Given the description of an element on the screen output the (x, y) to click on. 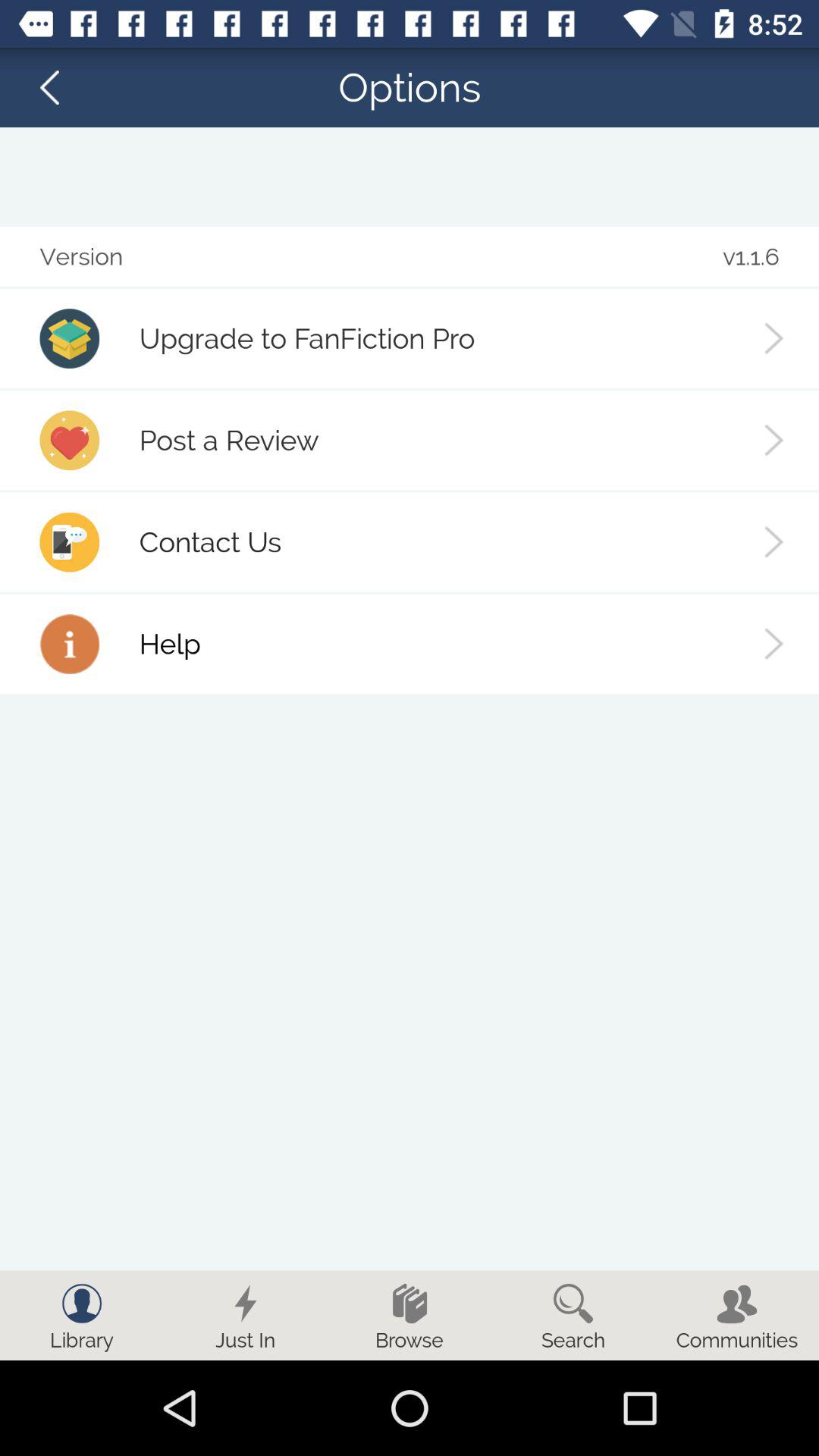
click on the icon left to help (69, 644)
click on the button above library (81, 1303)
click on icon on the left side of post a review (69, 440)
